Given the description of an element on the screen output the (x, y) to click on. 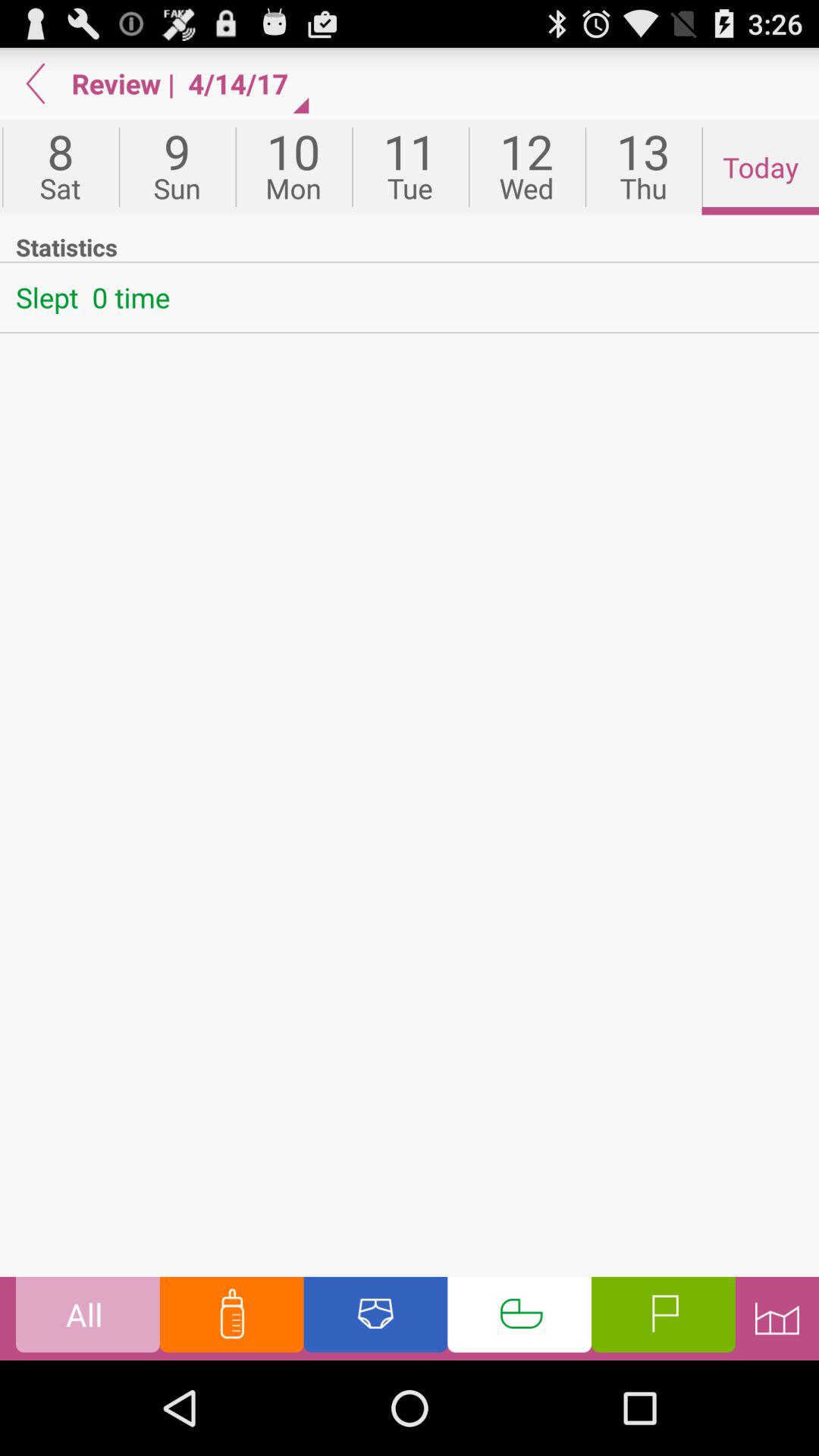
tap the sun item (176, 166)
